Given the description of an element on the screen output the (x, y) to click on. 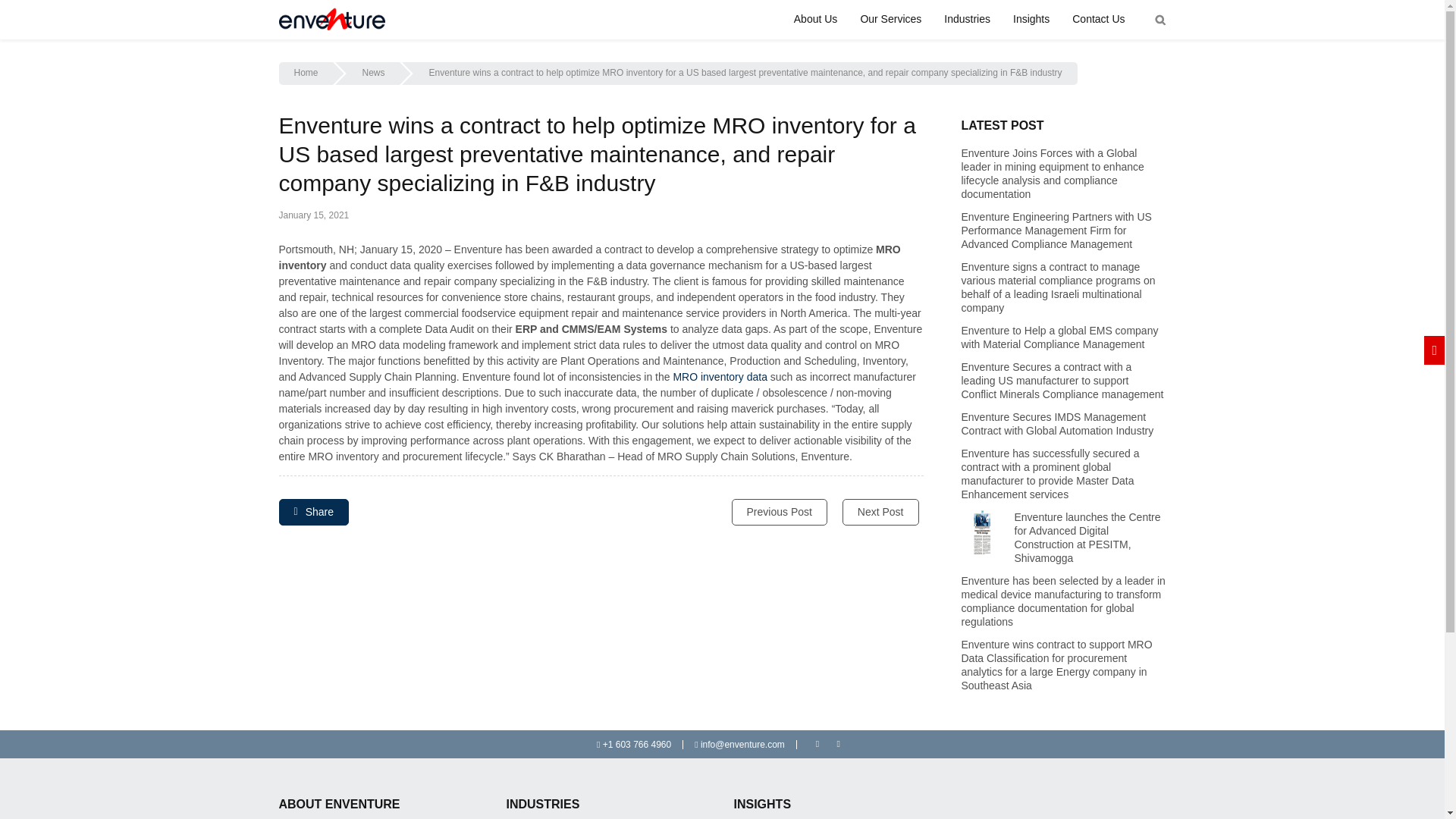
Enventure (332, 19)
Our Services (890, 19)
Industries (967, 19)
About Us (815, 19)
